Given the description of an element on the screen output the (x, y) to click on. 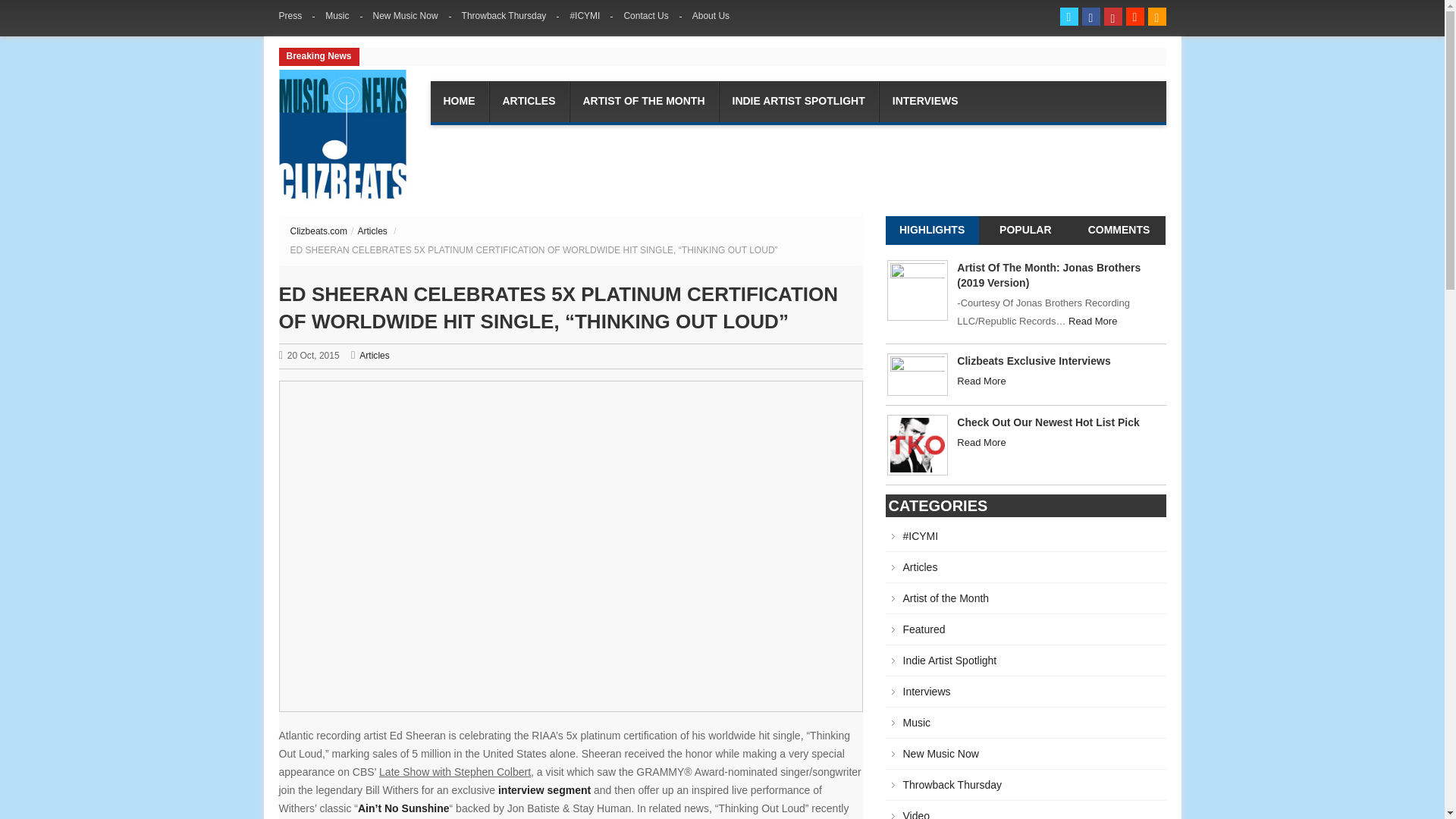
Press (297, 15)
Clizbeats.com (318, 231)
RSS (1157, 16)
YouTube (1112, 16)
INTERVIEWS (925, 101)
Contact Us (646, 15)
ARTICLES (528, 101)
HOME (458, 101)
Articles (371, 231)
SoundCloud (1133, 16)
interview segment (544, 789)
Clizbeats.com (343, 134)
Music (337, 15)
INDIE ARTIST SPOTLIGHT (798, 101)
Articles (373, 355)
